Given the description of an element on the screen output the (x, y) to click on. 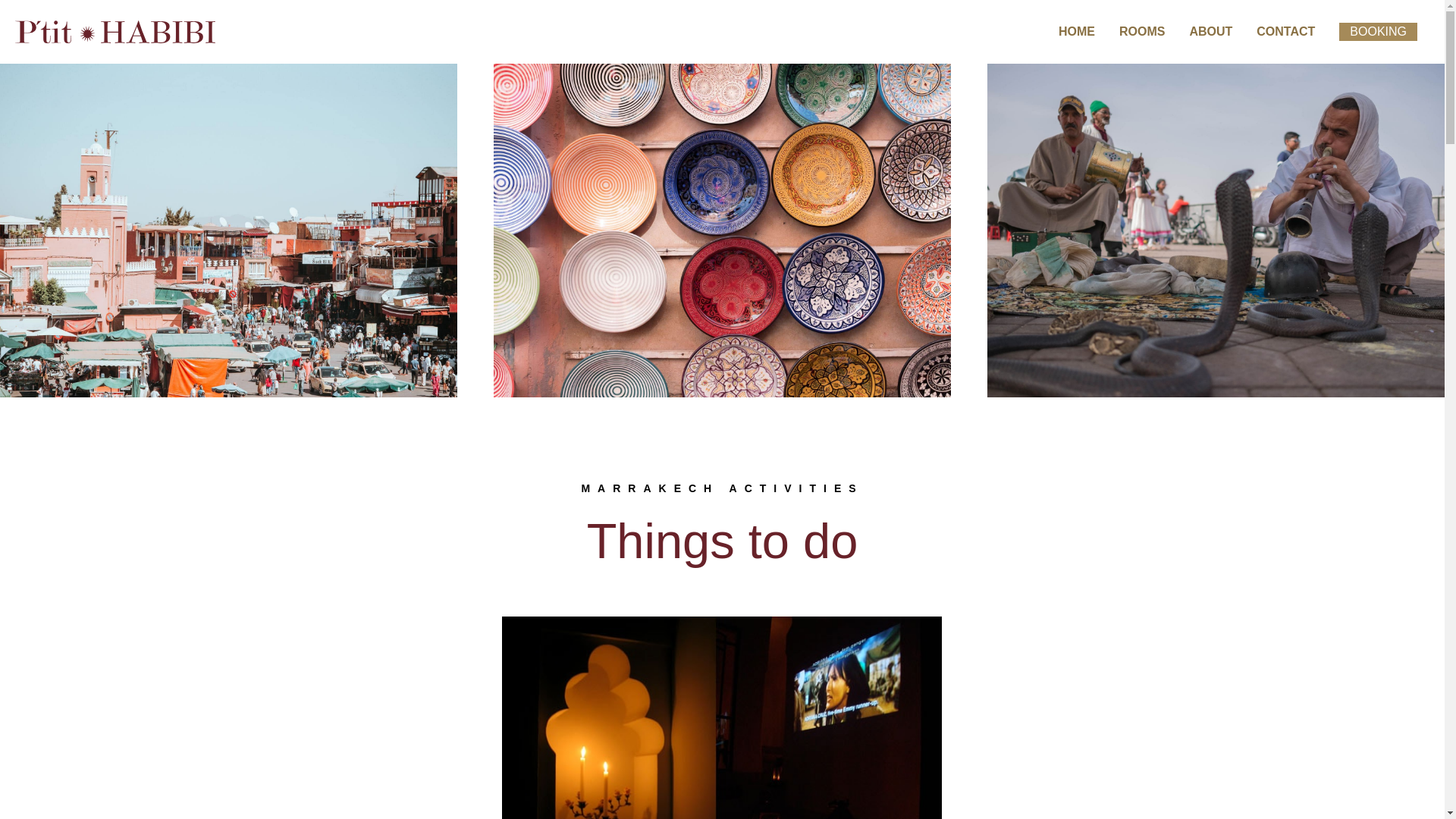
ROOMS (1141, 31)
HOME (1076, 31)
CONTACT (1285, 31)
BOOKING (1377, 31)
ABOUT (1210, 31)
